Given the description of an element on the screen output the (x, y) to click on. 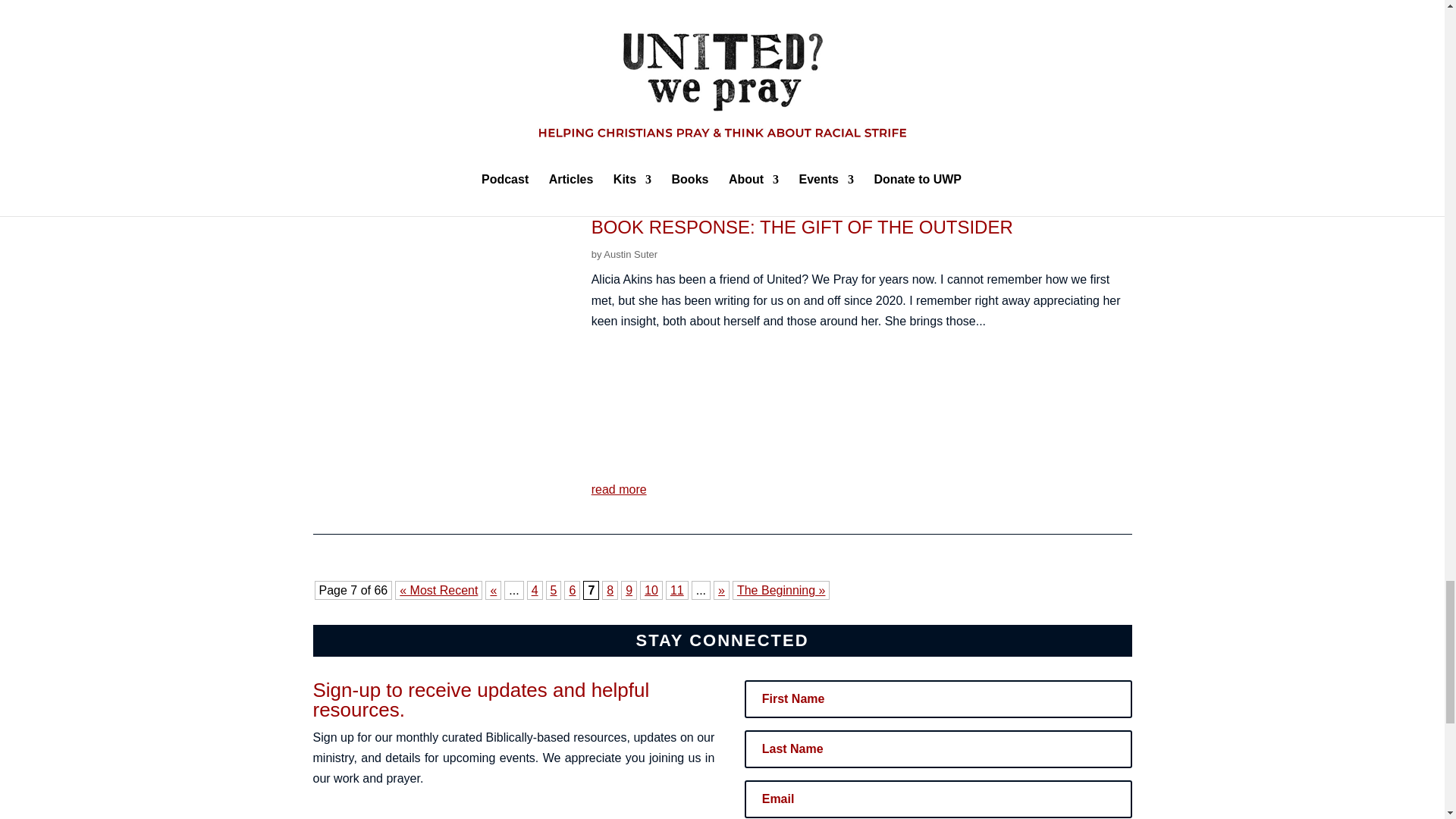
Posts by Austin Suter (631, 254)
Page 10 (651, 589)
Page 11 (676, 589)
